Given the description of an element on the screen output the (x, y) to click on. 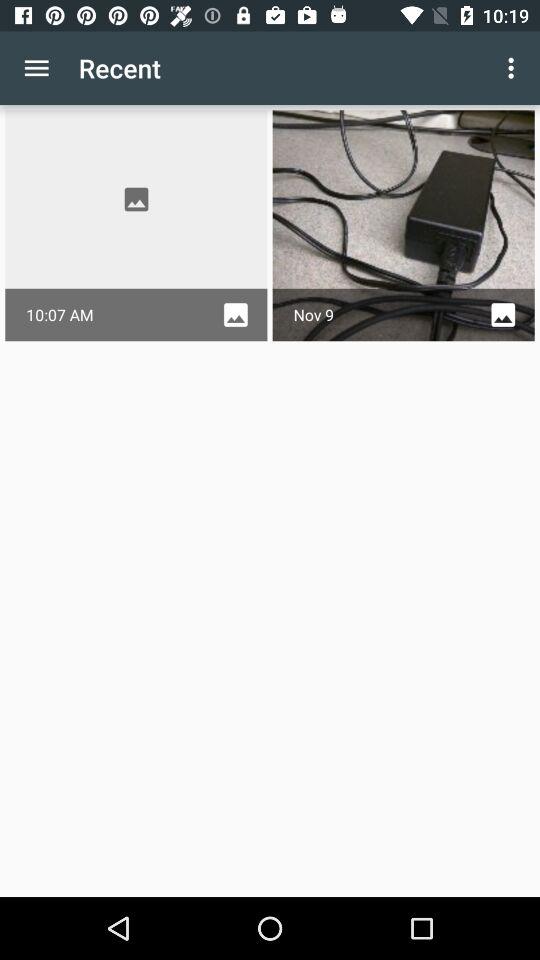
click item next to the recent item (36, 68)
